Given the description of an element on the screen output the (x, y) to click on. 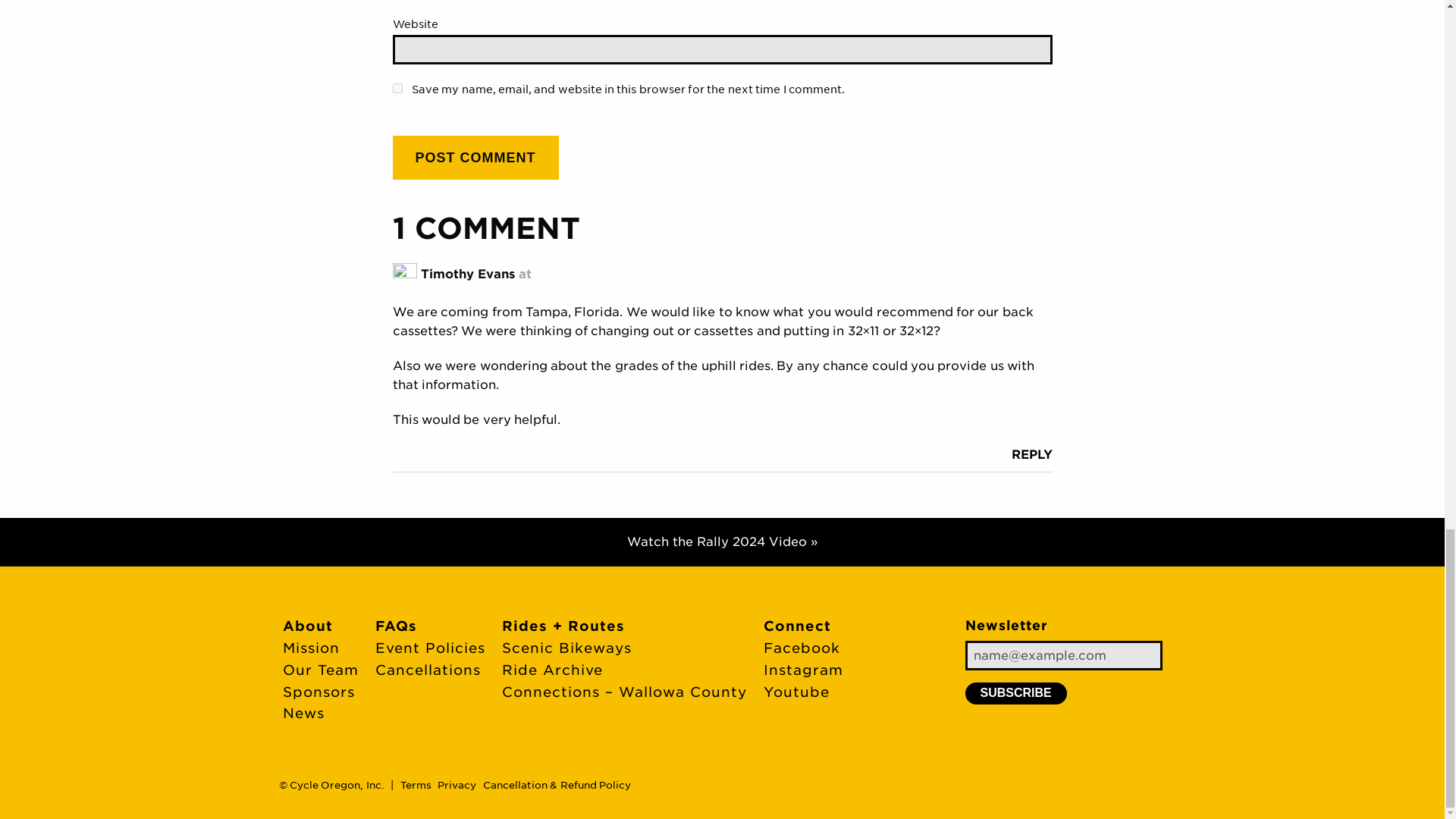
Our Team (320, 669)
Mission (310, 647)
REPLY (1031, 454)
Subscribe (1014, 692)
About (306, 625)
yes (398, 88)
at (524, 273)
Post Comment (476, 157)
Sponsors (317, 691)
Post Comment (476, 157)
